Given the description of an element on the screen output the (x, y) to click on. 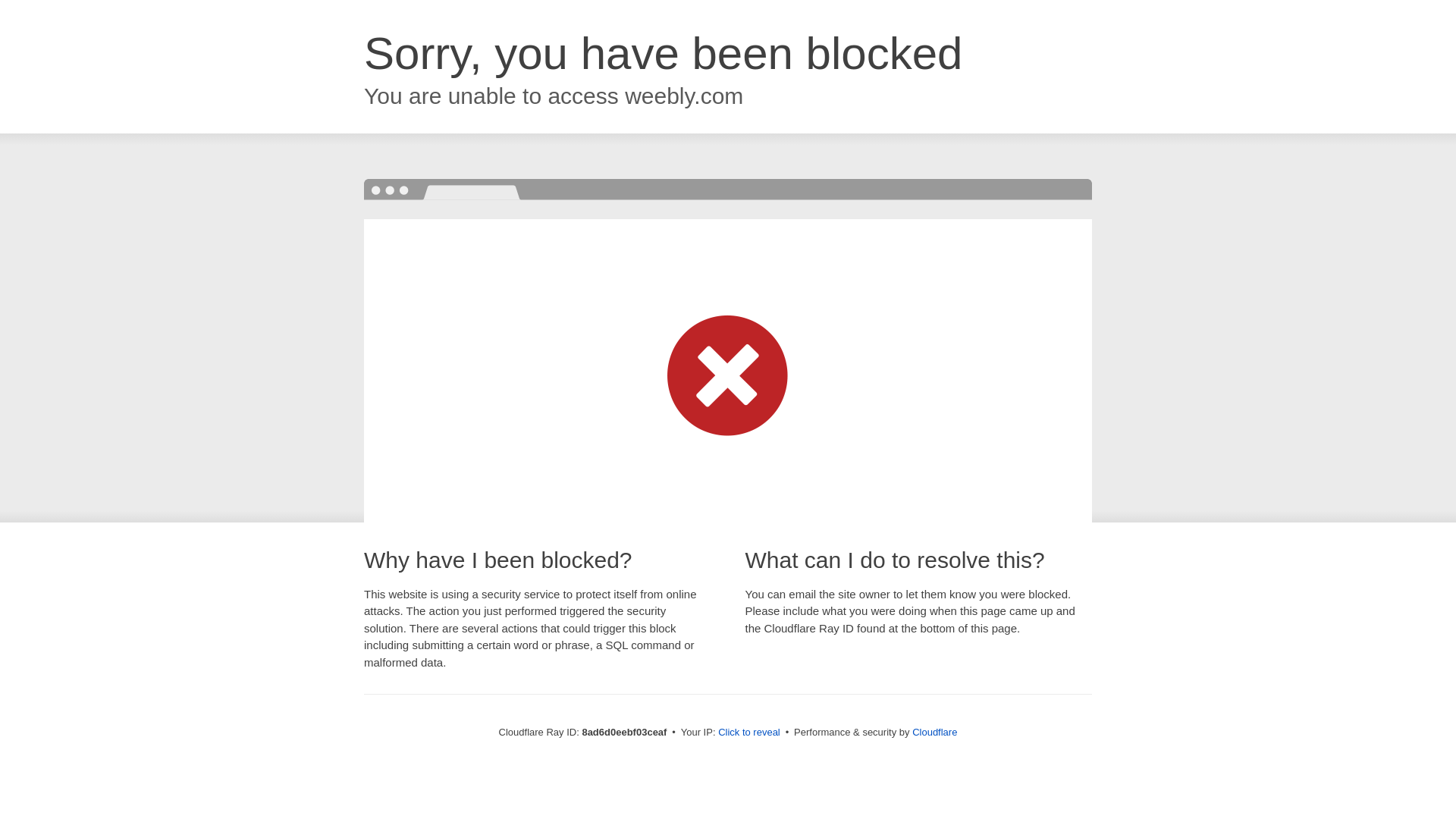
Click to reveal (748, 732)
Cloudflare (934, 731)
